Given the description of an element on the screen output the (x, y) to click on. 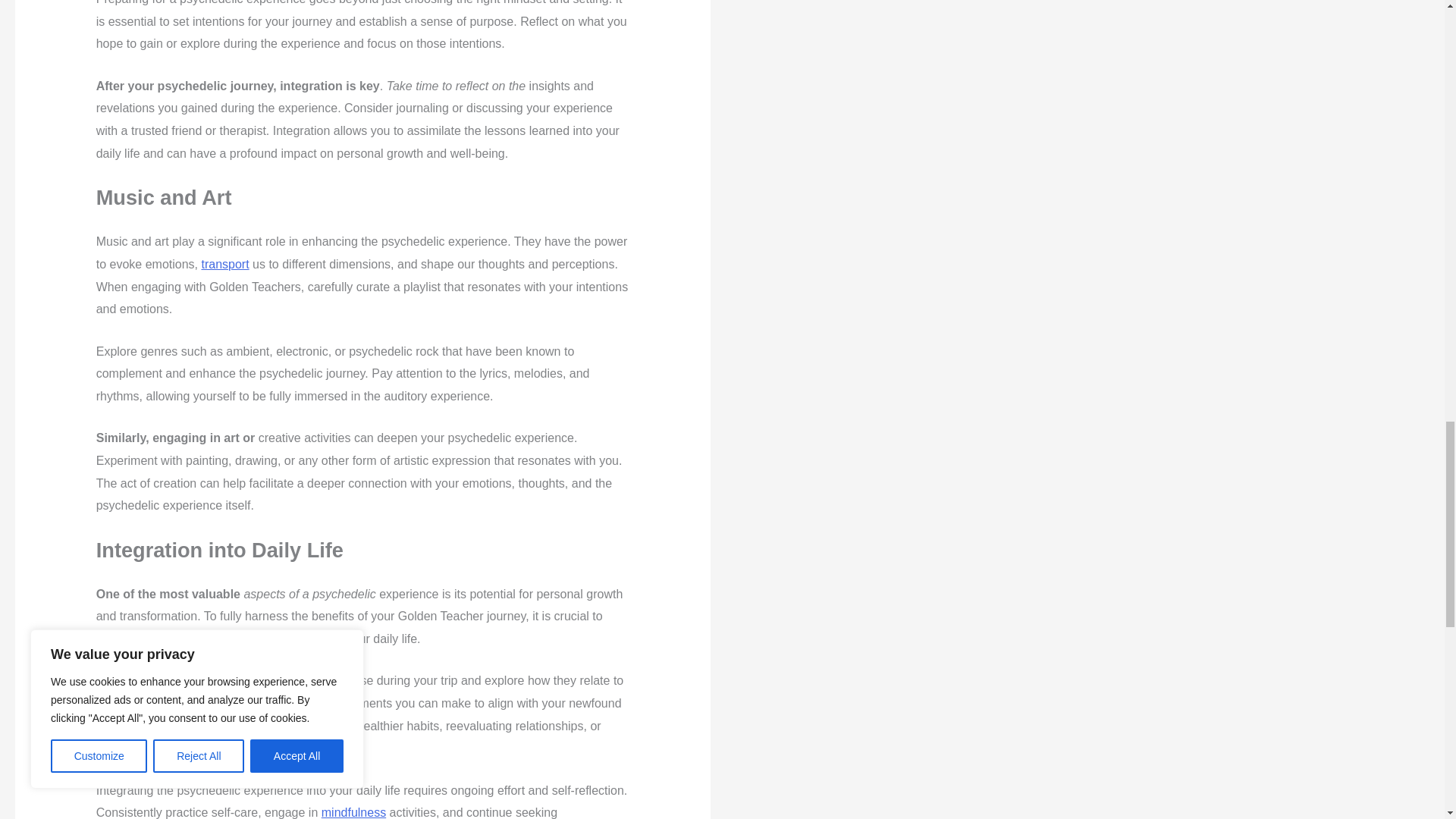
transport (224, 264)
mindfulness (353, 812)
